Given the description of an element on the screen output the (x, y) to click on. 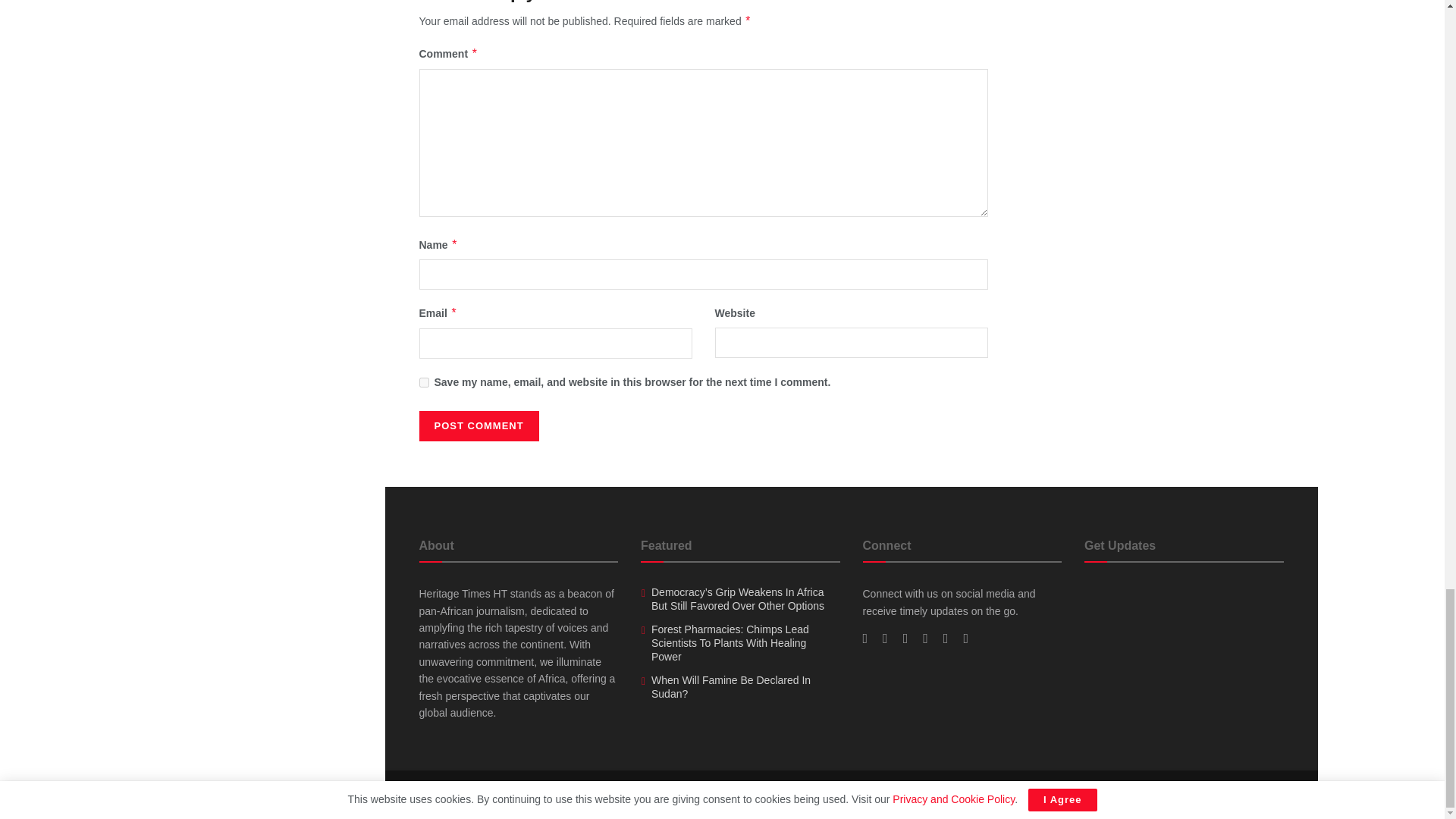
yes (423, 382)
Post Comment (478, 426)
